Given the description of an element on the screen output the (x, y) to click on. 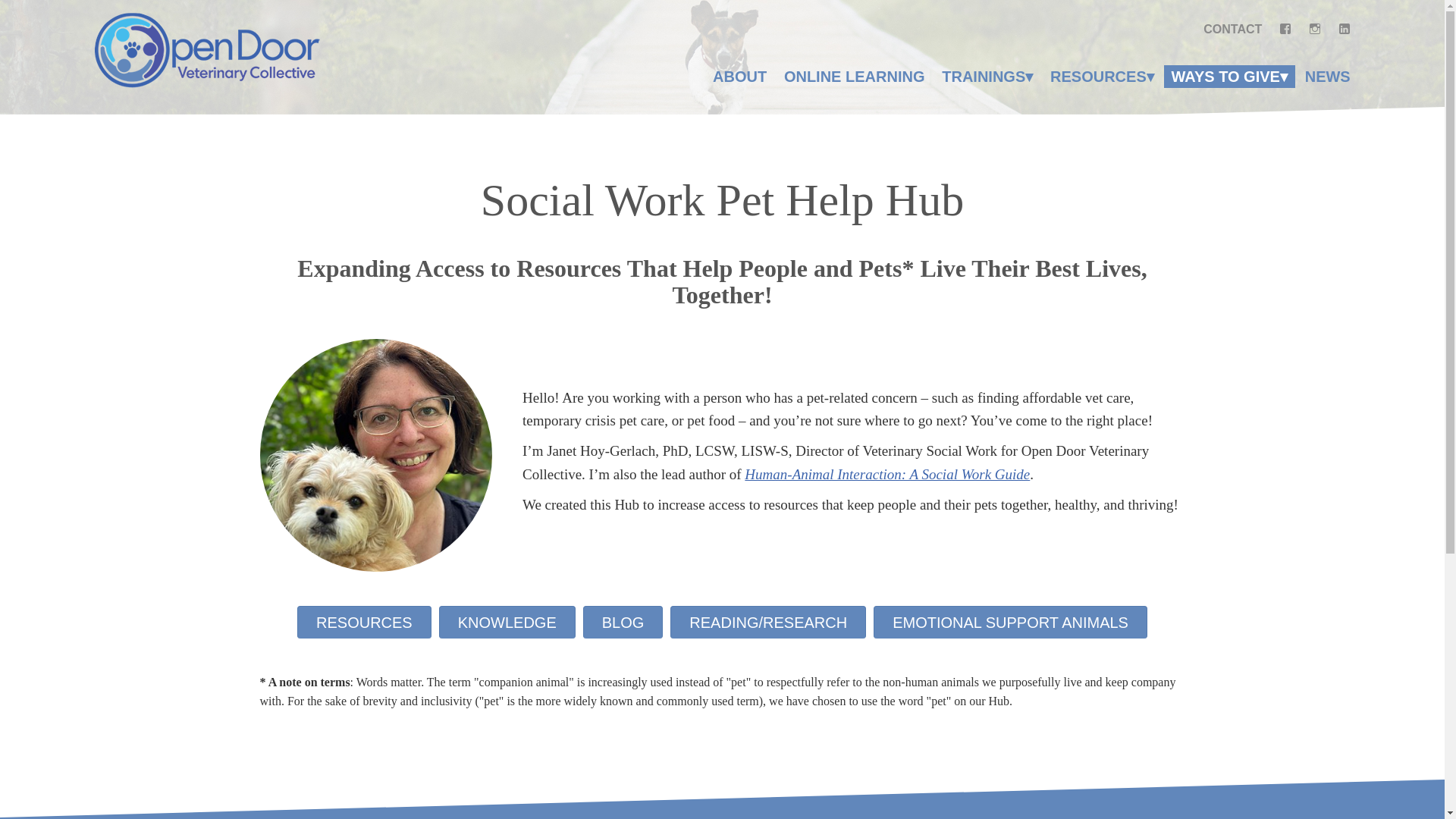
INSTAGRAM (1314, 29)
Janet-Hoy-Gerlach (375, 455)
CONTACT (1233, 29)
